Given the description of an element on the screen output the (x, y) to click on. 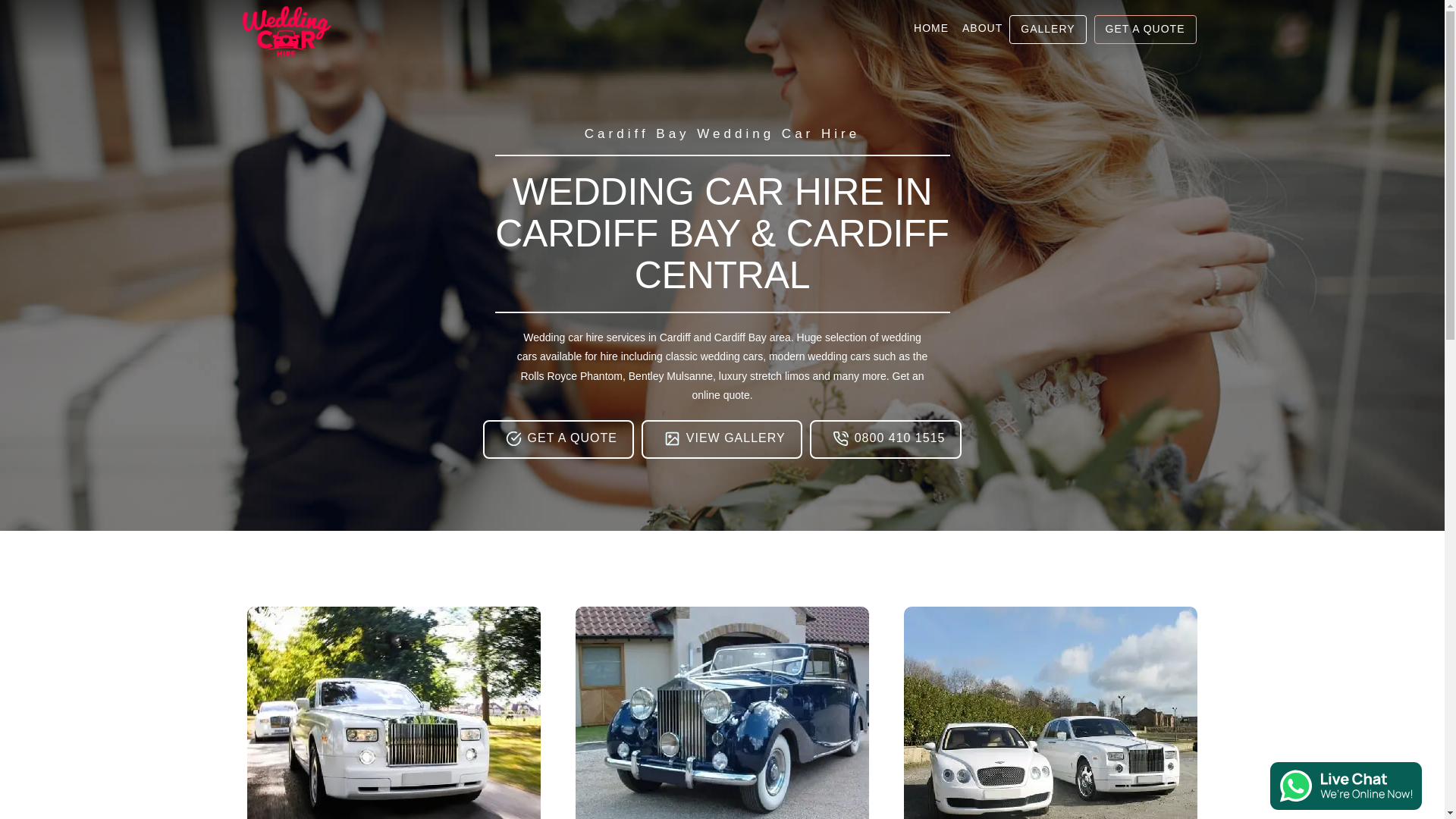
GET A QUOTE (558, 439)
Wedding Car Hire (286, 30)
Call Us (840, 438)
Get a Quote (512, 438)
Call Us (885, 439)
Get A Quote (1145, 29)
VIEW GALLERY (722, 439)
Modern Wedding Cars (394, 712)
Get a Quotes (558, 439)
Wedding Car Hire (286, 28)
About (982, 28)
Gallery (1047, 29)
HOME (931, 12)
